Given the description of an element on the screen output the (x, y) to click on. 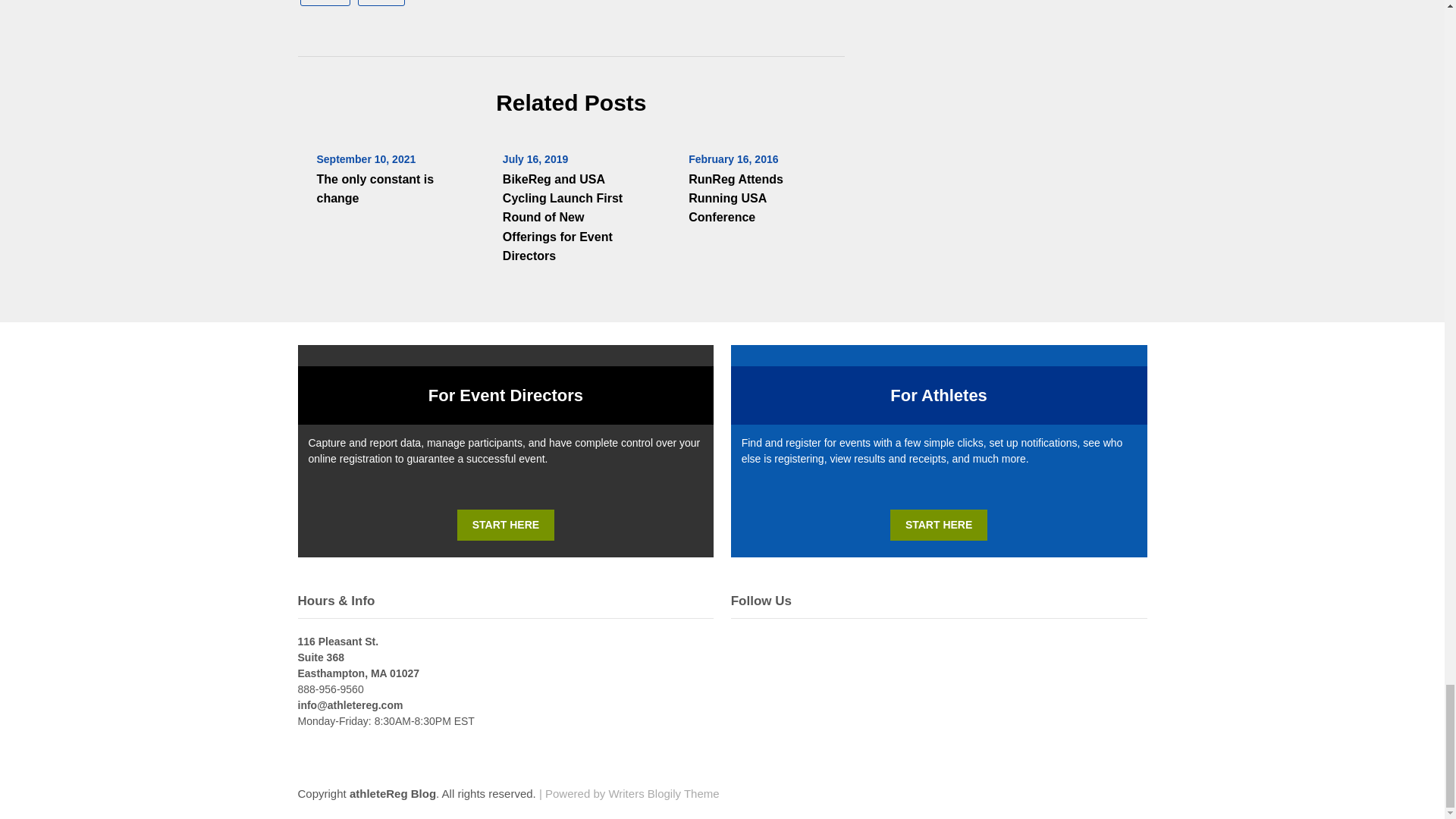
RunReg Attends Running USA Conference (735, 197)
SkiReg (324, 2)
The only constant is change (375, 188)
TriReg (381, 2)
